Given the description of an element on the screen output the (x, y) to click on. 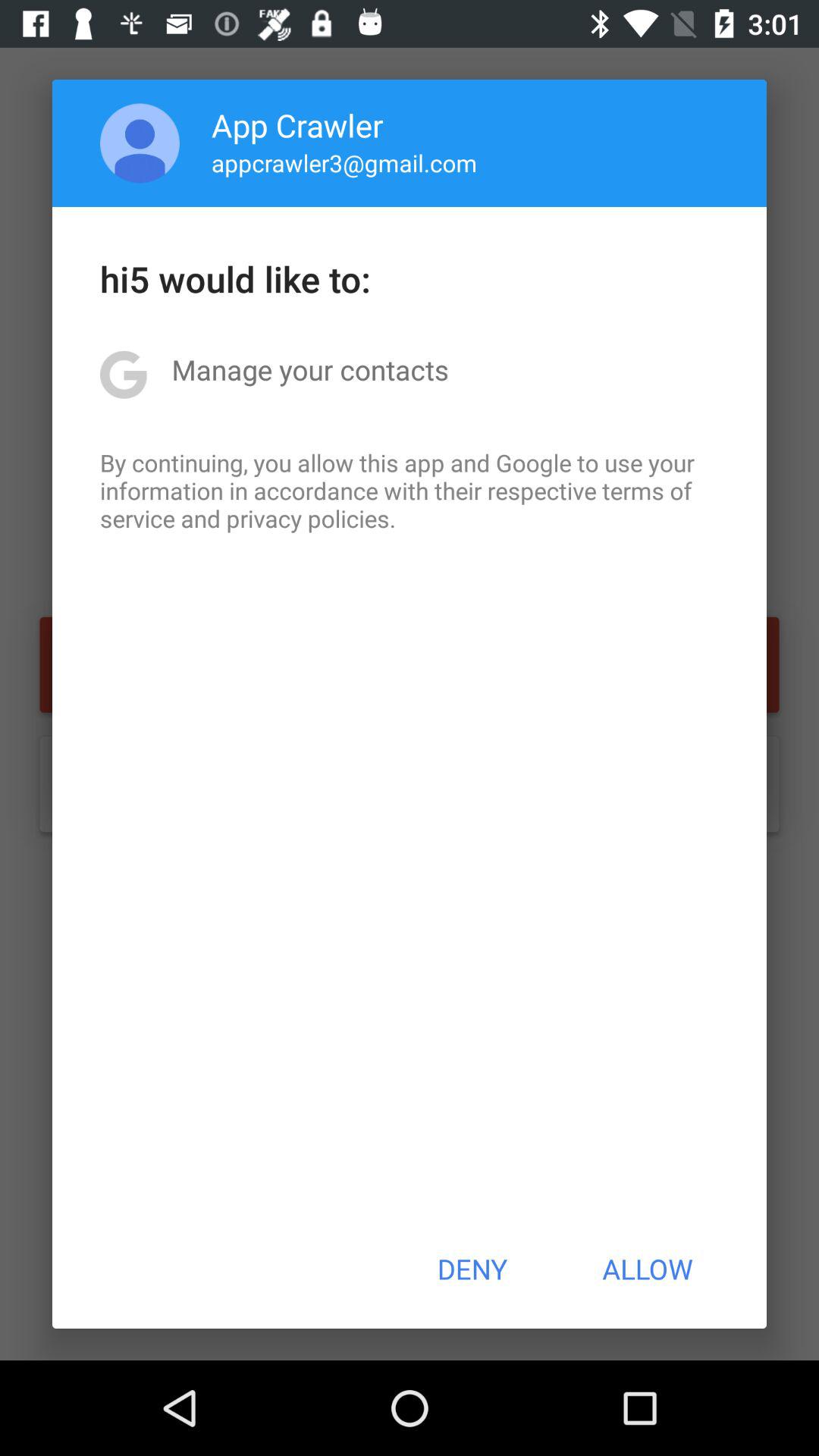
jump to the app crawler (297, 124)
